Given the description of an element on the screen output the (x, y) to click on. 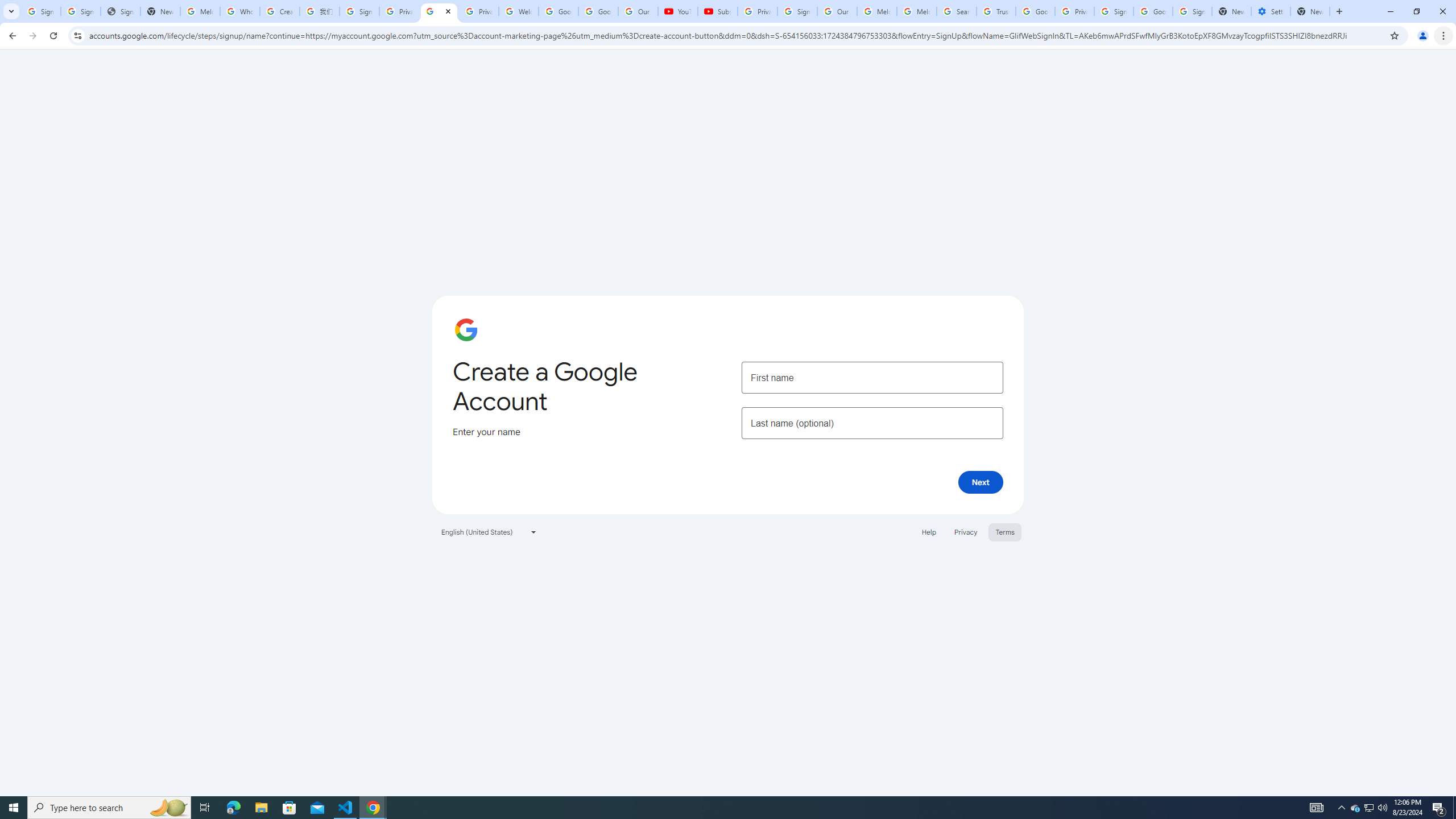
Create your Google Account (438, 11)
Next (980, 481)
Sign In - USA TODAY (120, 11)
Sign in - Google Accounts (1192, 11)
Search our Doodle Library Collection - Google Doodles (956, 11)
Google Account (598, 11)
YouTube (677, 11)
